Given the description of an element on the screen output the (x, y) to click on. 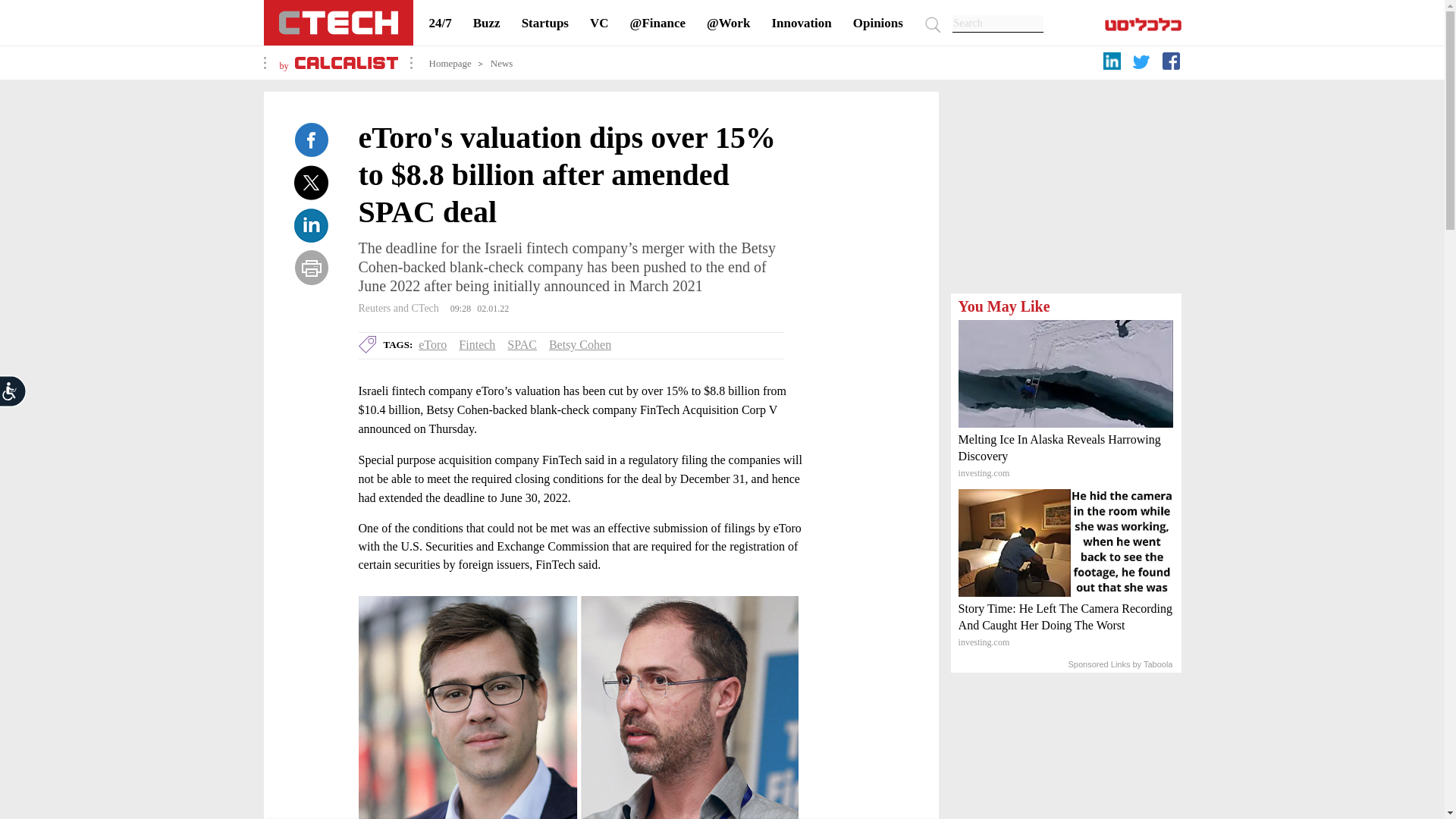
Innovation (801, 23)
Twitter (311, 182)
Startups (545, 23)
linkedin (1113, 63)
Facebook (311, 140)
Startups (545, 23)
Linkedin (311, 225)
facebook (1173, 63)
Finance (657, 23)
Fintech (476, 344)
Opinions (877, 23)
CTech (338, 22)
News (501, 62)
VC (598, 23)
VC (598, 23)
